Given the description of an element on the screen output the (x, y) to click on. 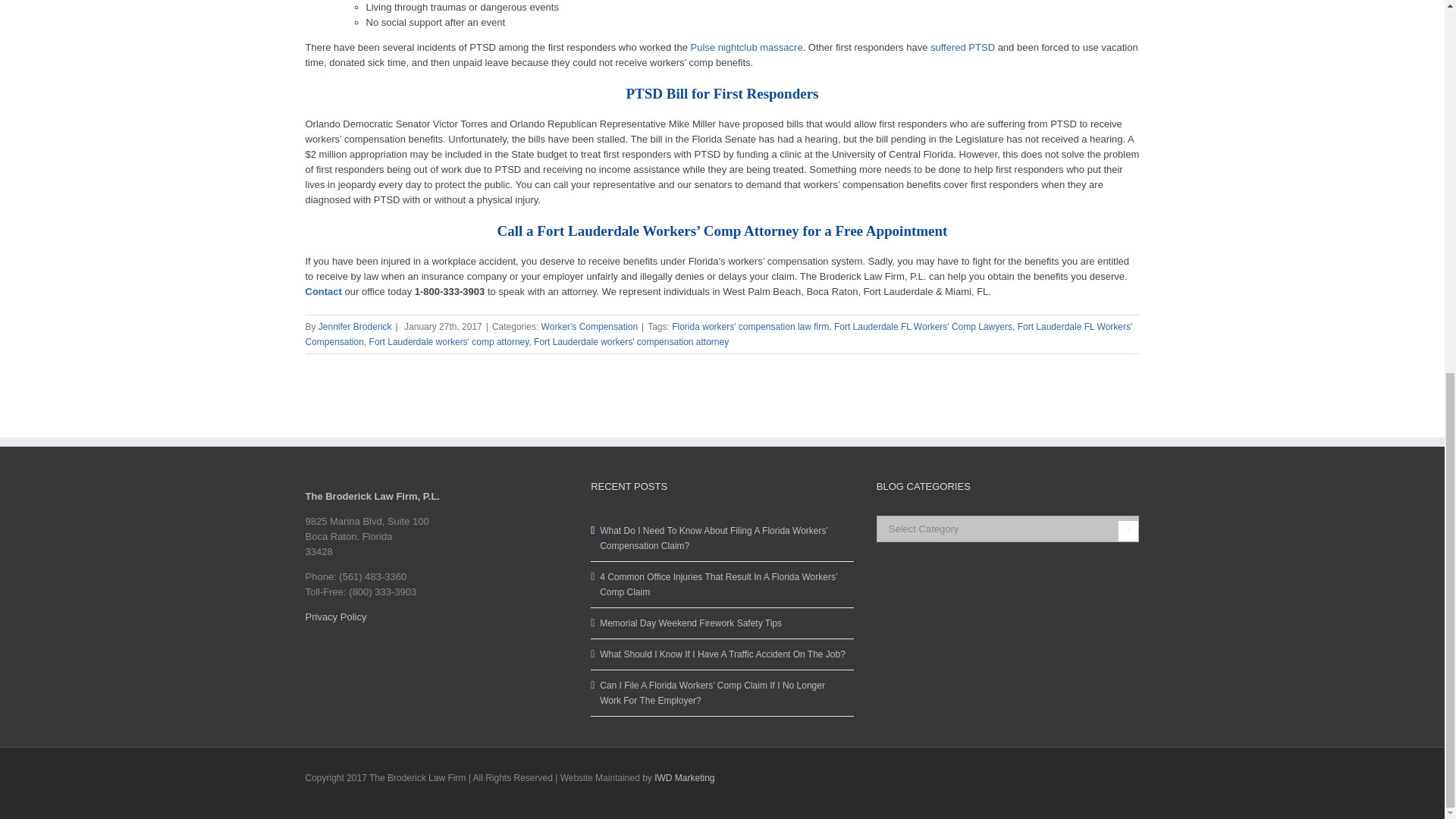
Posts by Jennifer Broderick (354, 326)
